Given the description of an element on the screen output the (x, y) to click on. 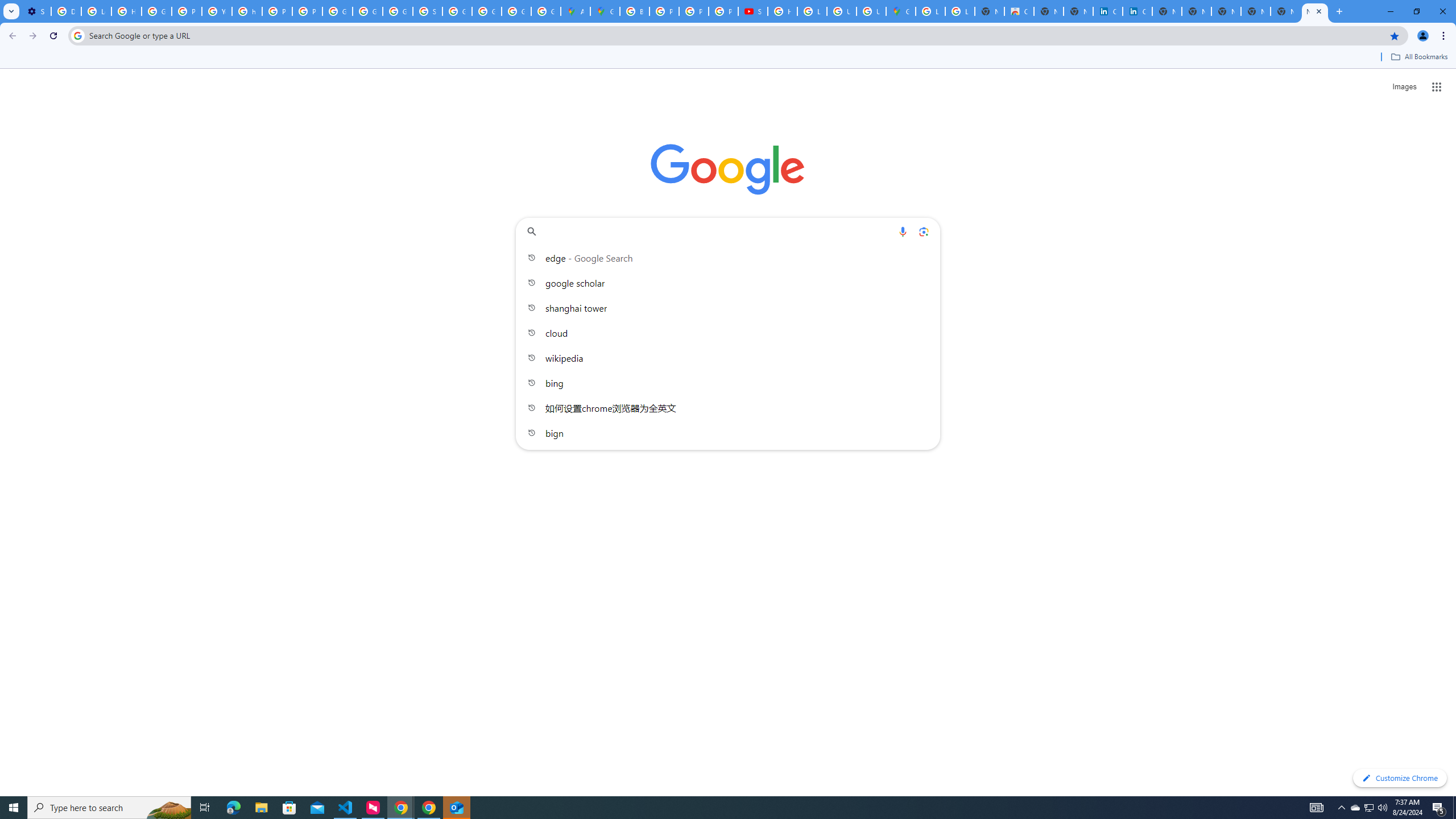
New Tab (1314, 11)
Delete photos & videos - Computer - Google Photos Help (65, 11)
Add shortcut (727, 287)
Google Account Help (156, 11)
Search icon (77, 35)
Blogger Policies and Guidelines - Transparency Center (634, 11)
YouTube (216, 11)
Privacy Help Center - Policies Help (277, 11)
https://scholar.google.com/ (247, 11)
Google Maps (900, 11)
